Given the description of an element on the screen output the (x, y) to click on. 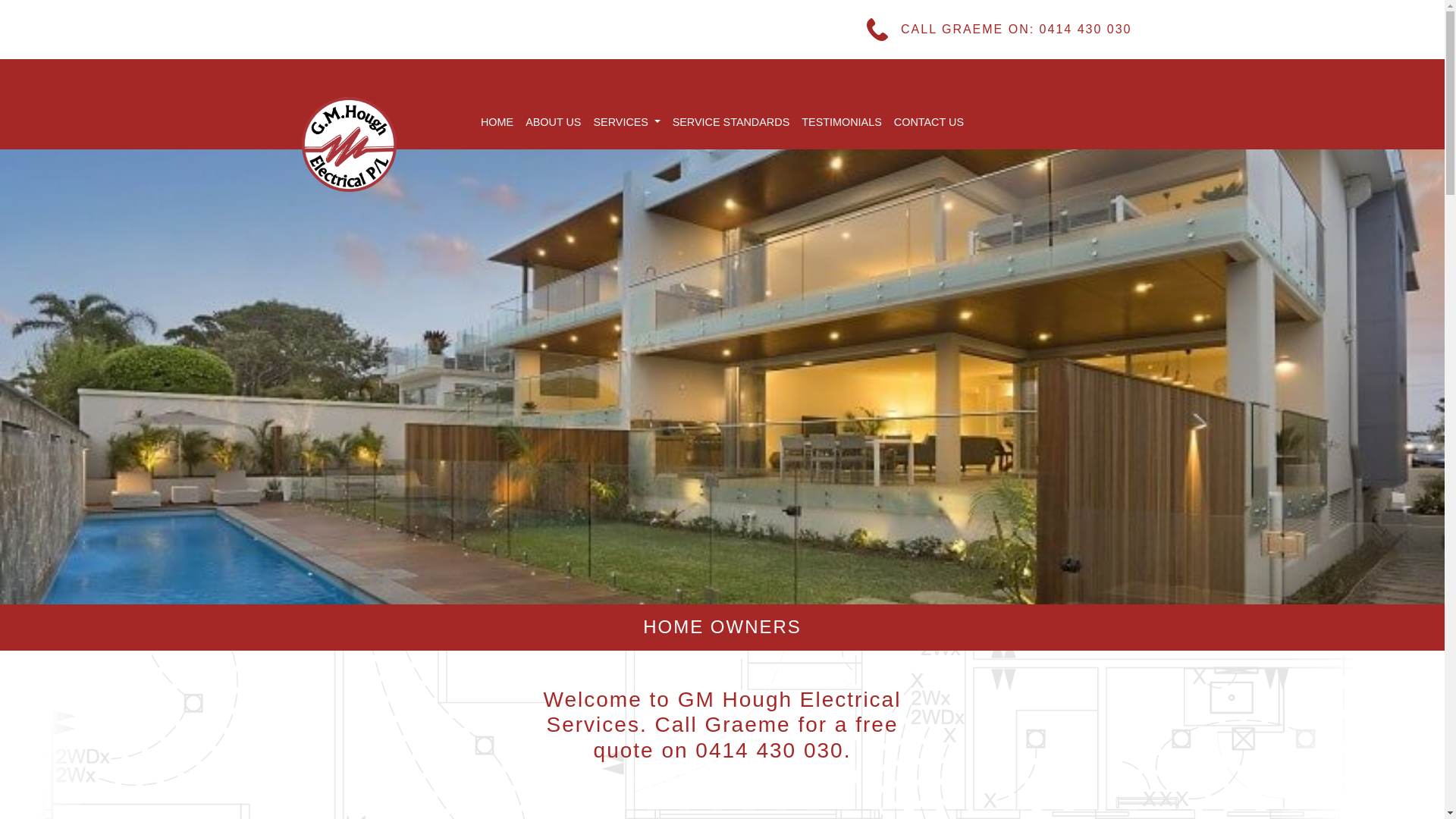
SERVICE STANDARDS Element type: text (731, 122)
Slide 1 Element type: hover (722, 376)
CONTACT US Element type: text (928, 122)
TESTIMONIALS Element type: text (841, 122)
ABOUT US Element type: text (552, 122)
SERVICES Element type: text (625, 122)
HOME Element type: text (496, 122)
